Given the description of an element on the screen output the (x, y) to click on. 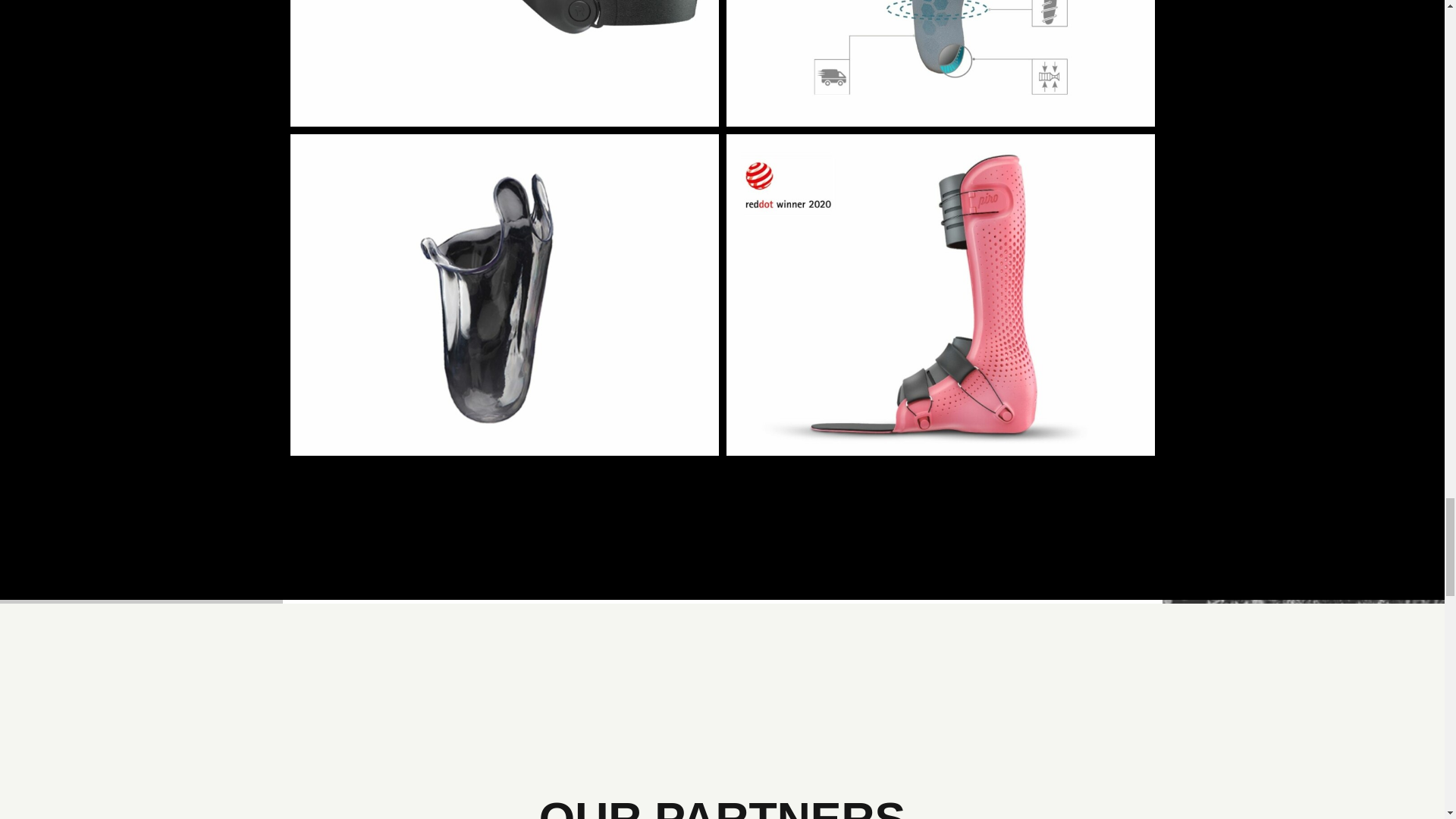
1FC40A9D-090C-4CF6-913F-6DFD2D4C3940 (503, 63)
0DB3F7E0-0319-4E74-BAB0-C76A068FCA62 (940, 63)
